Given the description of an element on the screen output the (x, y) to click on. 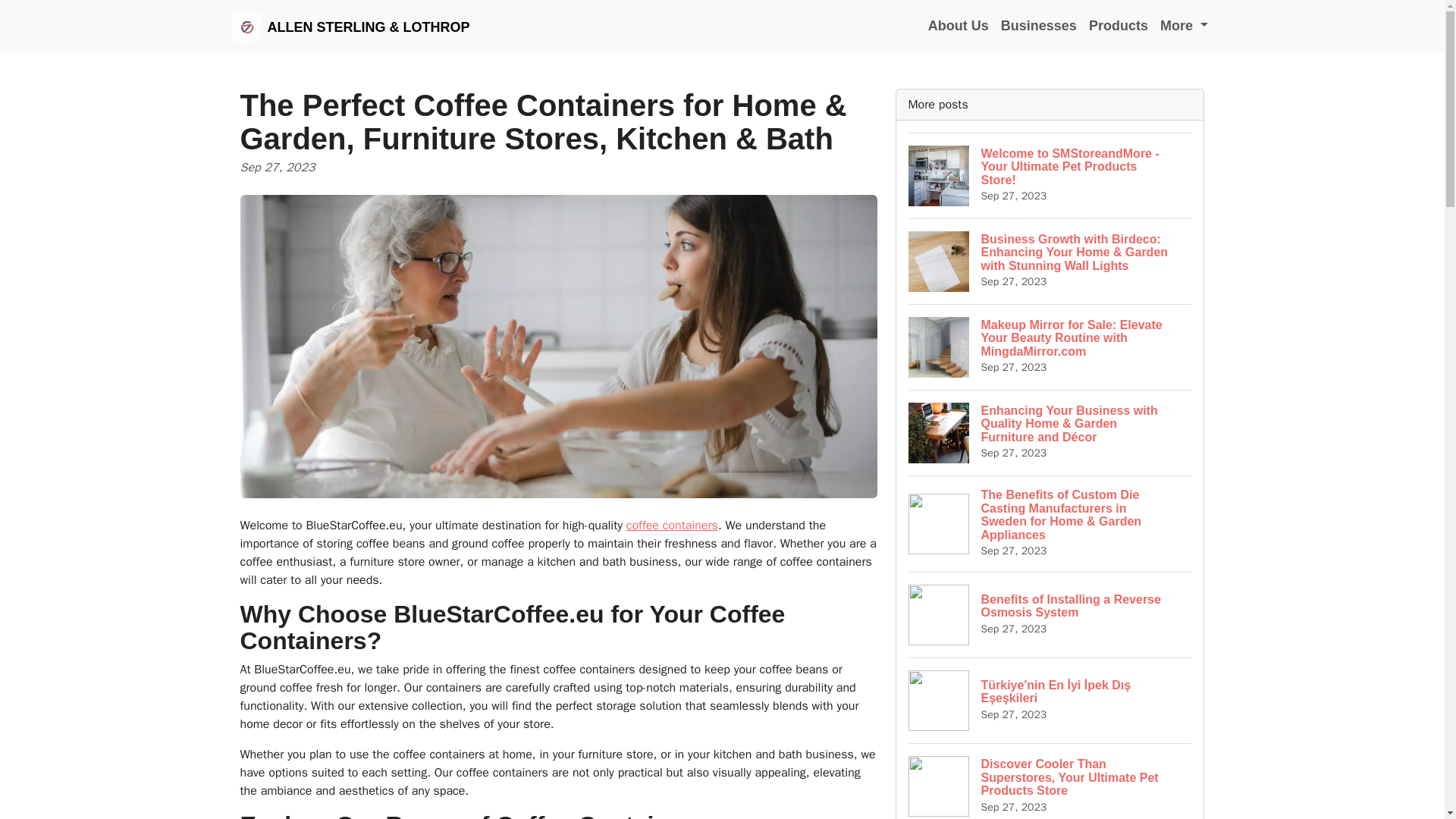
Products (1118, 25)
Businesses (1050, 614)
coffee containers (1038, 25)
More (671, 525)
About Us (1184, 25)
